Given the description of an element on the screen output the (x, y) to click on. 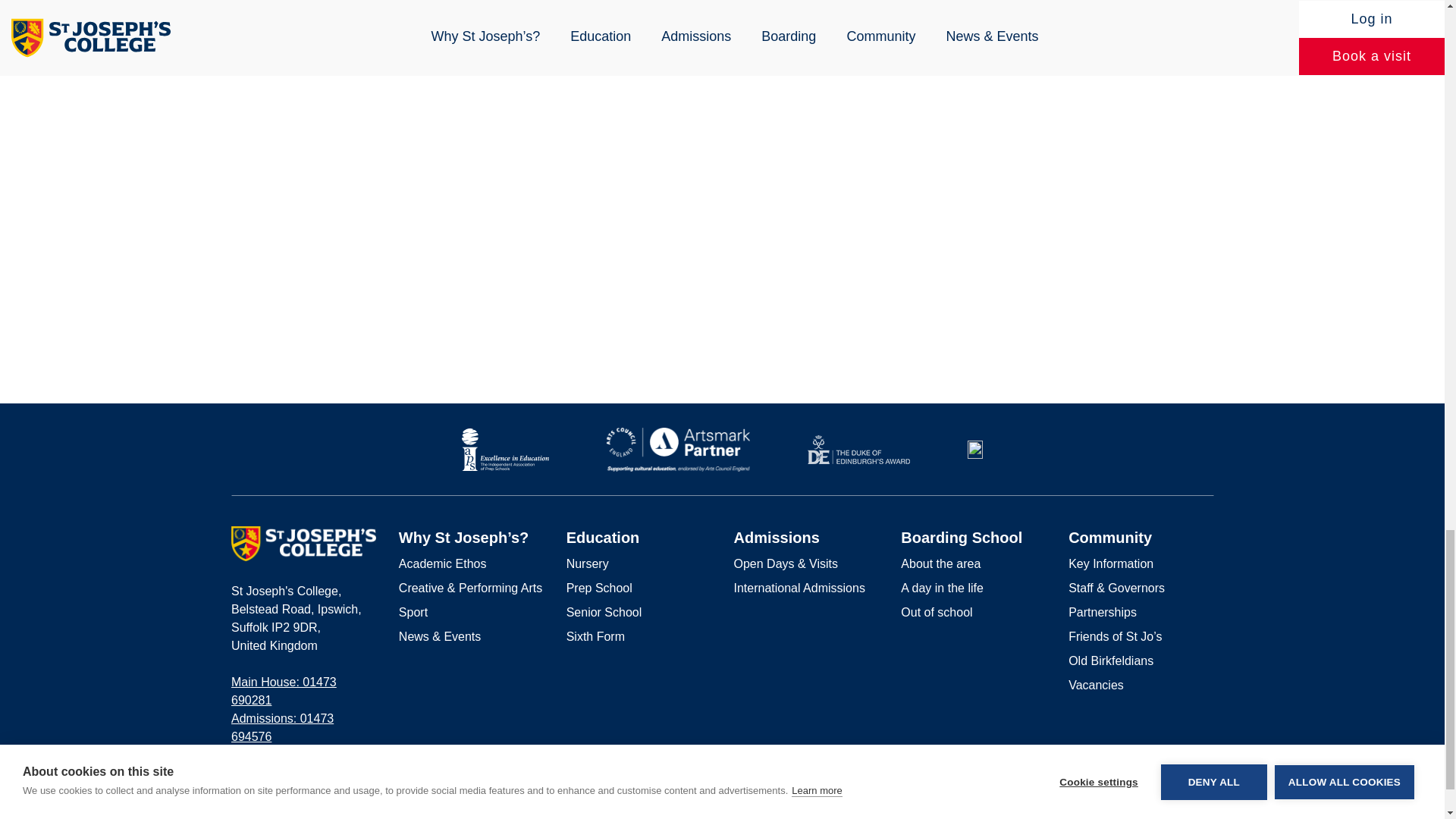
Instagram (1182, 814)
Facebook (1158, 814)
Twitter (1206, 814)
